Given the description of an element on the screen output the (x, y) to click on. 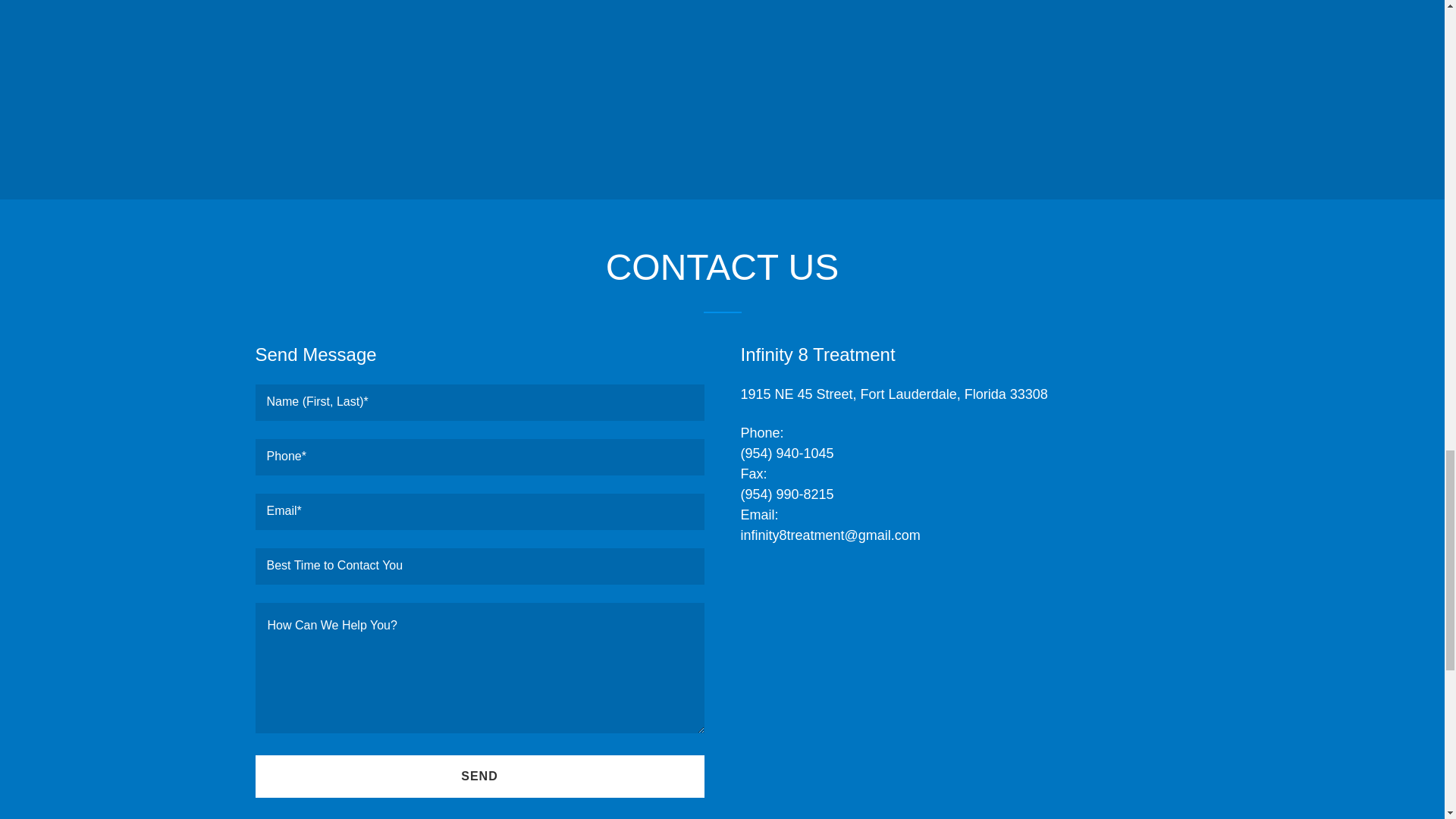
SEND (478, 776)
